Given the description of an element on the screen output the (x, y) to click on. 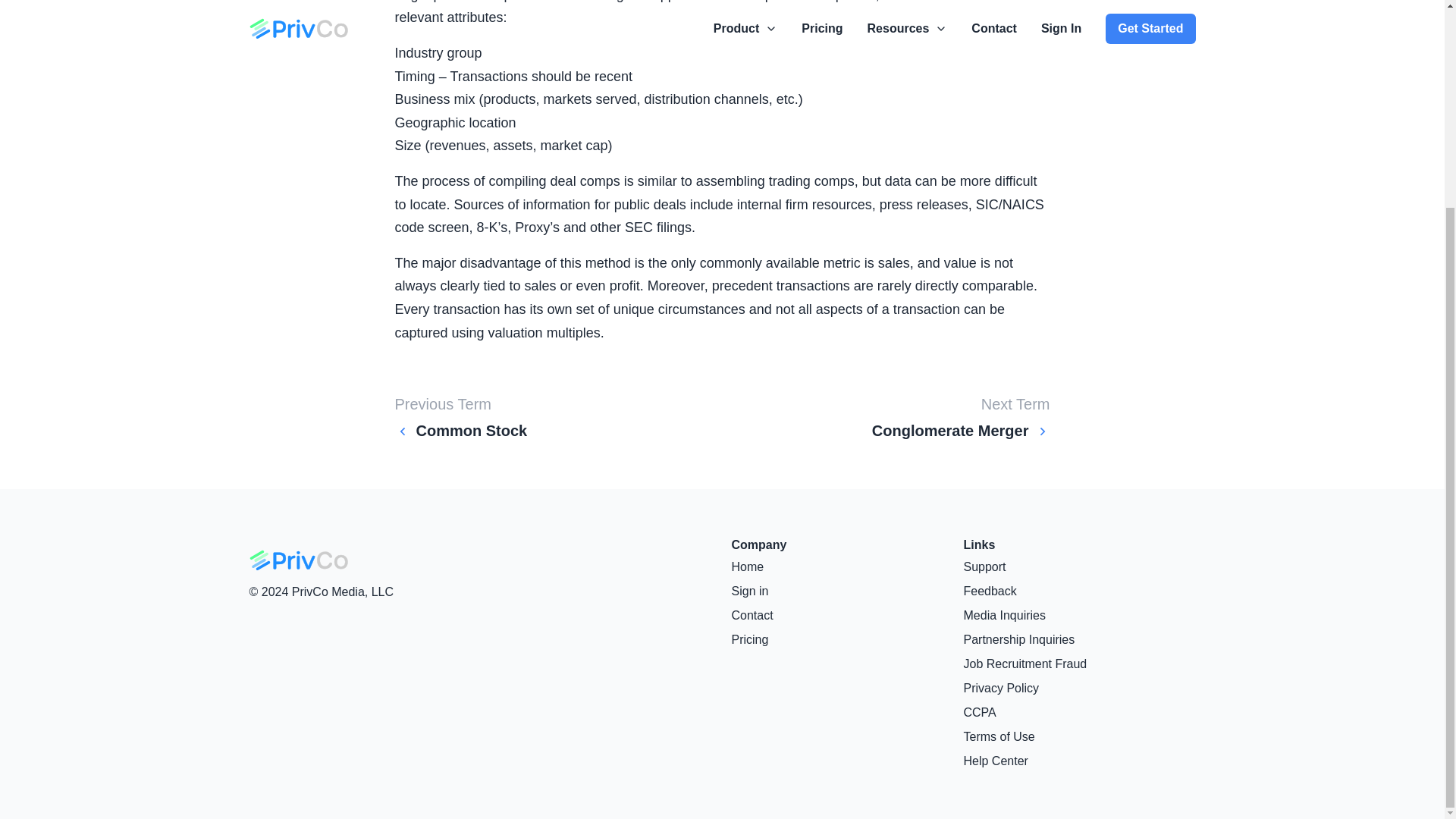
Conglomerate Merger (960, 430)
Contact (846, 615)
Media Inquiries (1078, 615)
Help Center (1078, 761)
Feedback (1078, 591)
Support (1078, 566)
Terms of Use (1078, 737)
Sign in (846, 591)
Common Stock (460, 430)
Privacy Policy (1078, 688)
